Given the description of an element on the screen output the (x, y) to click on. 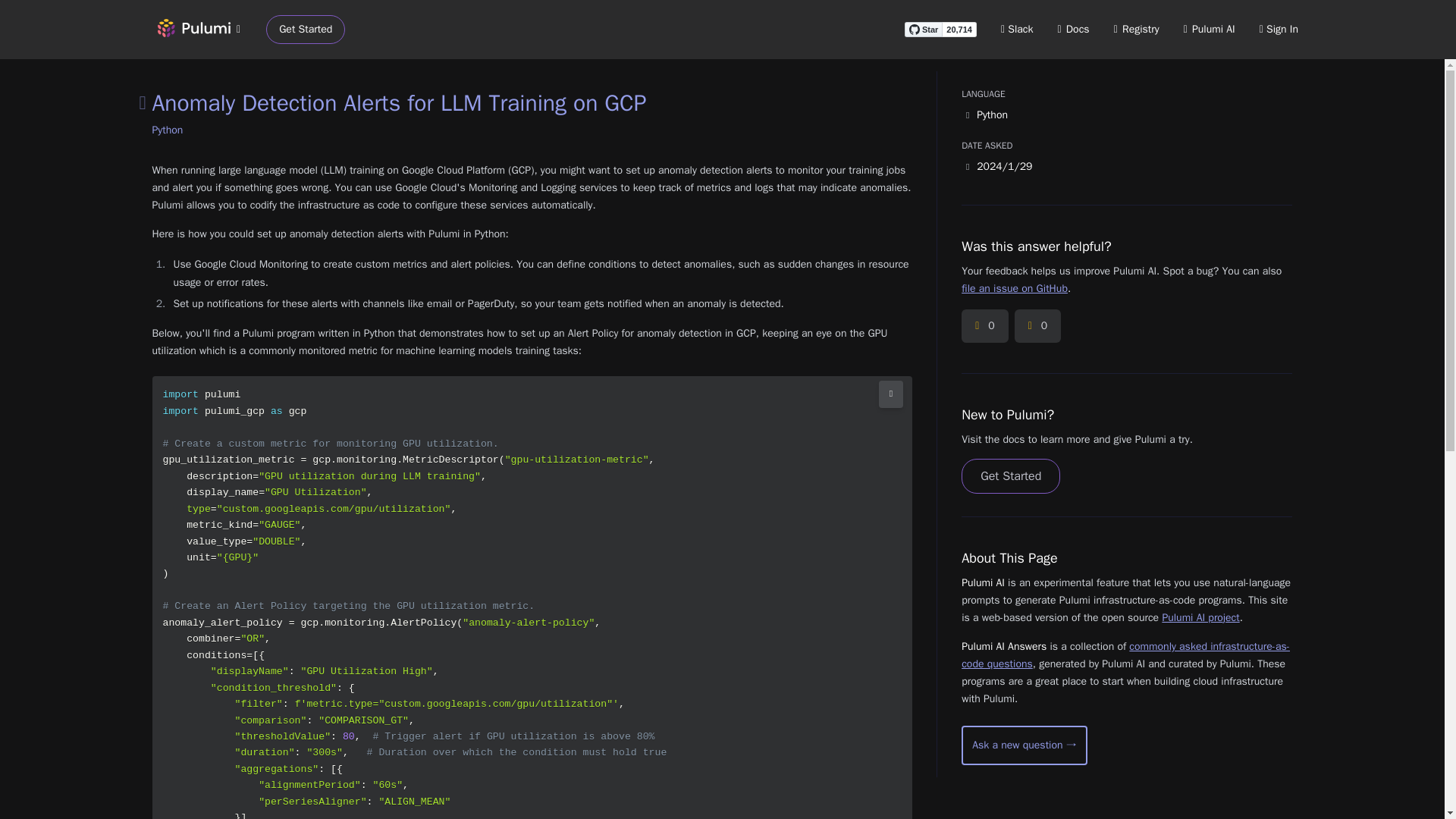
Upvote this answer (984, 326)
0 (984, 326)
Downvote this answer (1037, 326)
Start a new conversation with Pulumi AI (1023, 744)
Pulumi AI (1208, 29)
20,714 (959, 29)
Registry (1135, 29)
file an issue on GitHub (1013, 287)
Sign In (1278, 29)
Slack (1017, 29)
